Given the description of an element on the screen output the (x, y) to click on. 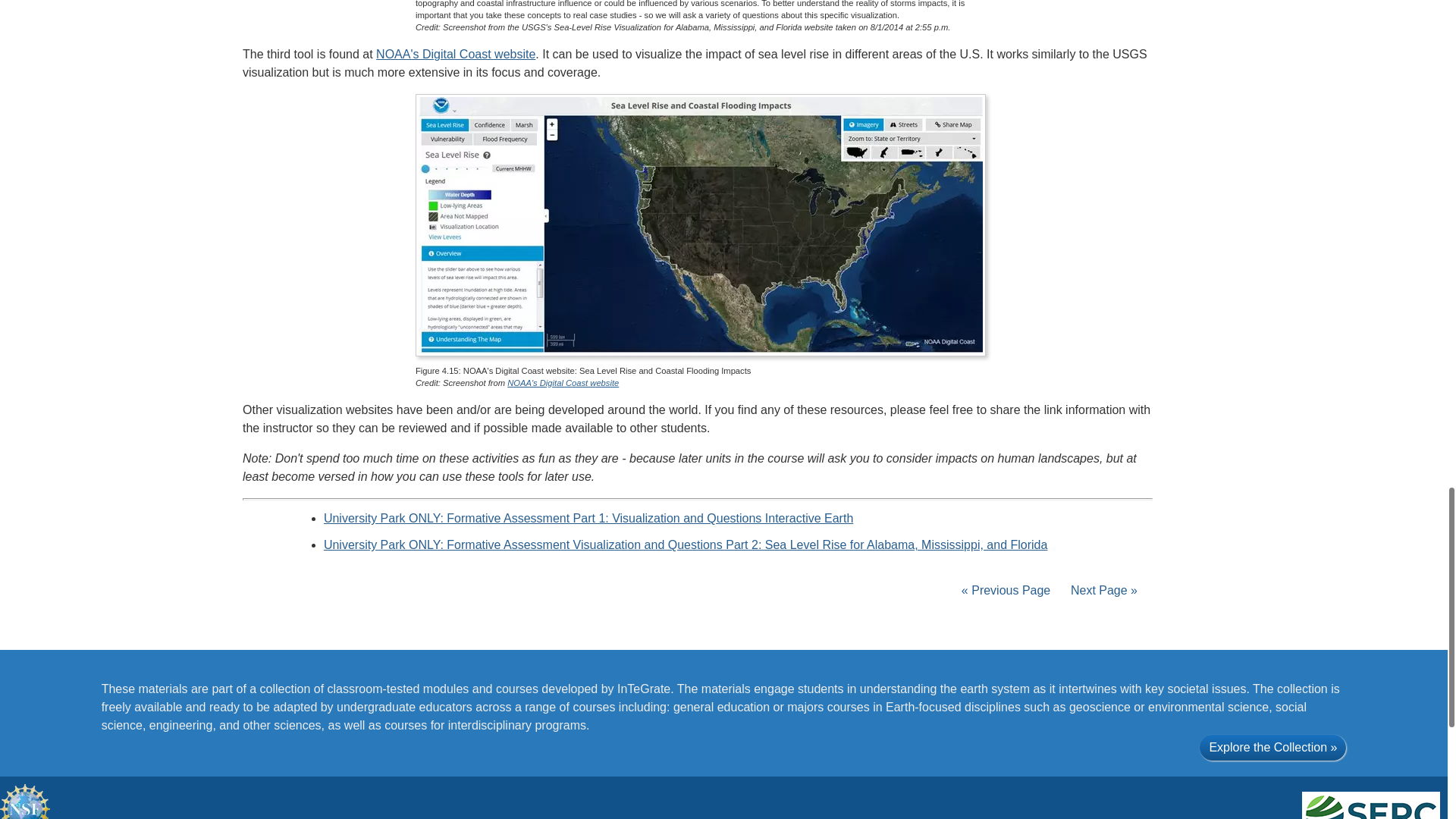
NOAA's Digital Coast website (455, 53)
NOAA's Digital Coast website (562, 382)
